Given the description of an element on the screen output the (x, y) to click on. 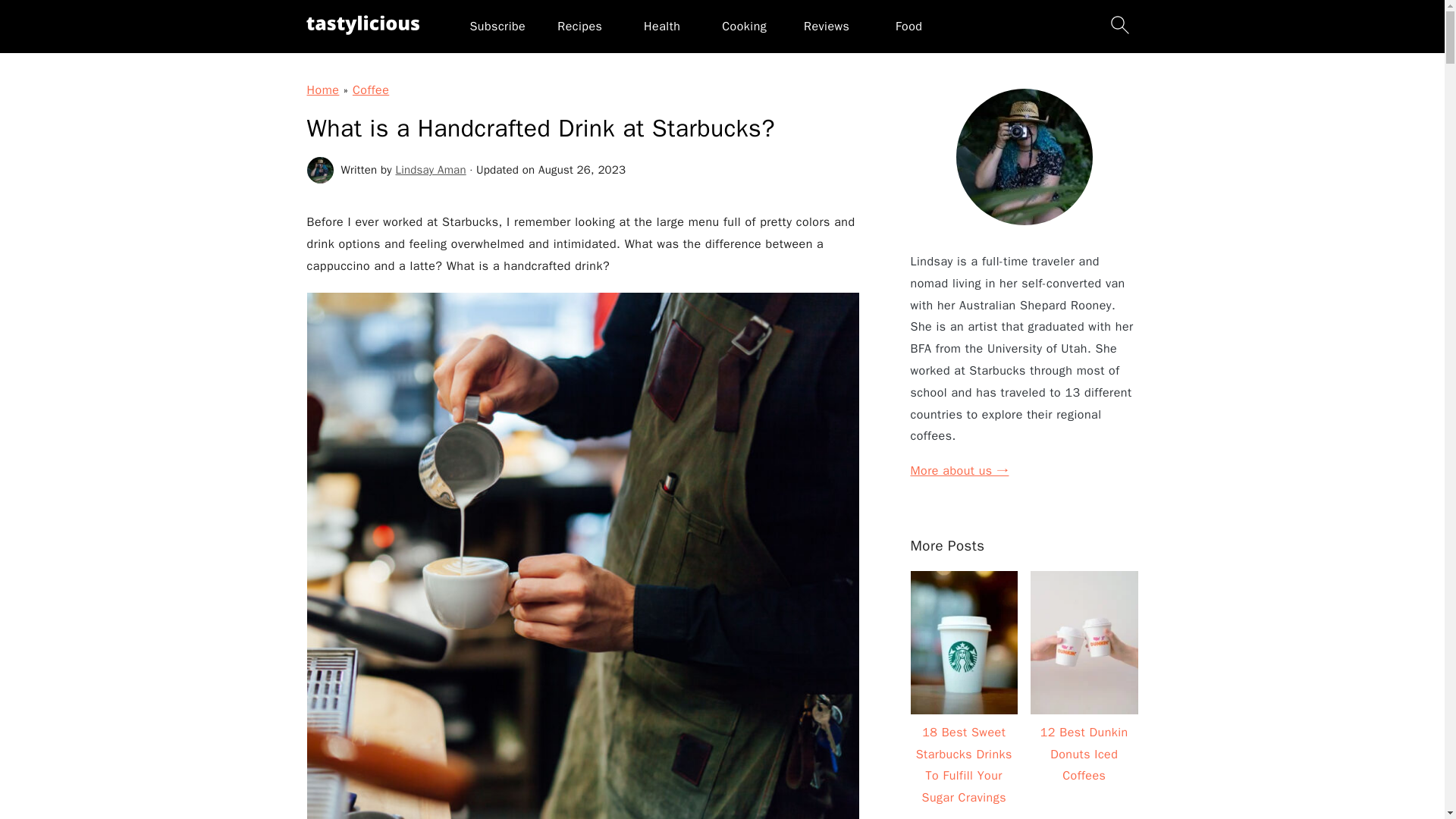
Home (322, 89)
Cooking (744, 26)
Coffee (370, 89)
Food (909, 26)
Reviews (825, 26)
Health (661, 26)
Lindsay Aman (430, 169)
Recipes (579, 26)
search icon (1119, 24)
Subscribe (496, 26)
